Given the description of an element on the screen output the (x, y) to click on. 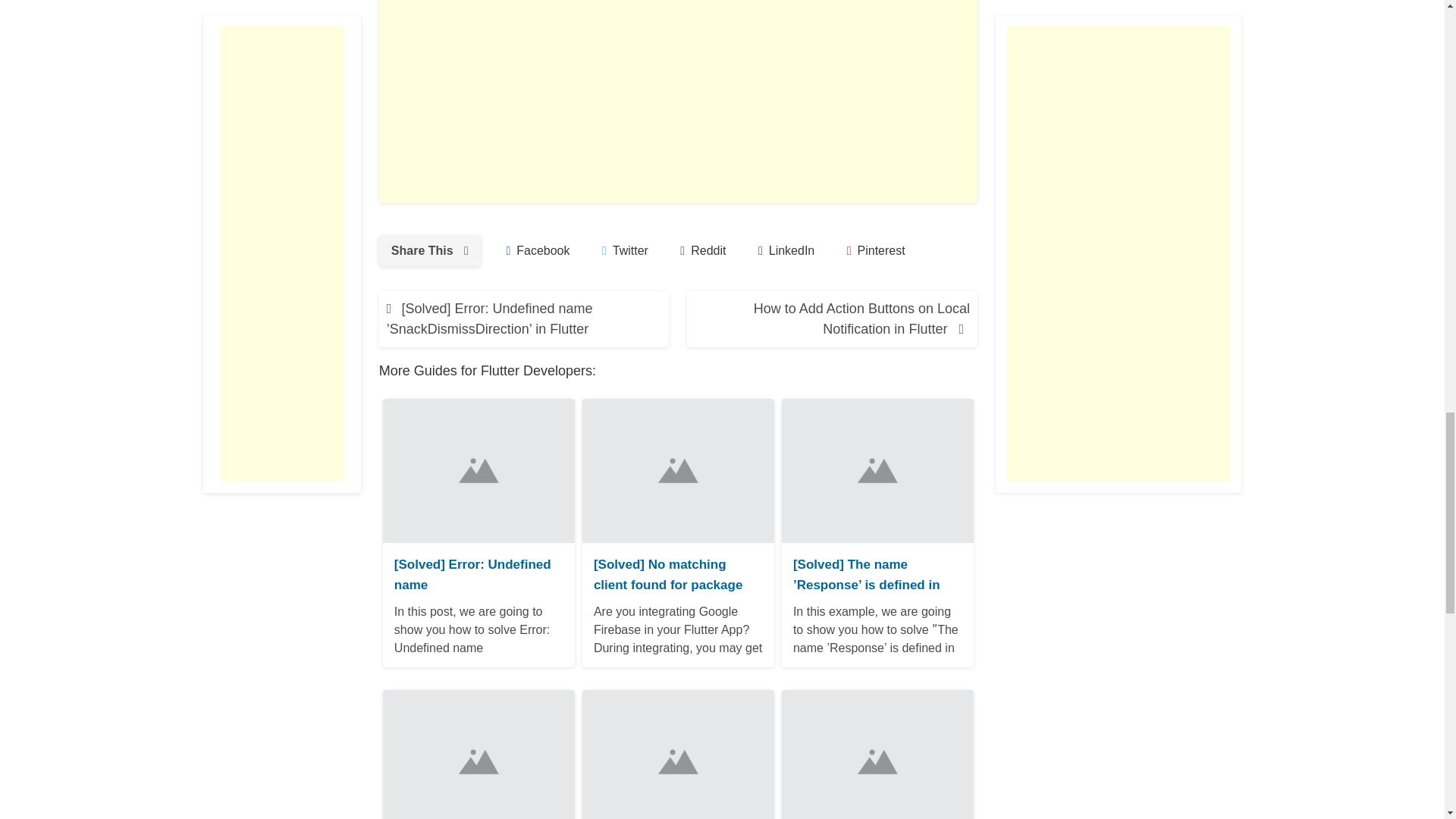
Twitter (625, 250)
Facebook (536, 250)
Reddit (703, 250)
How to Add Action Buttons on Local Notification in Flutter (831, 319)
LinkedIn (786, 250)
Pinterest (875, 250)
